Given the description of an element on the screen output the (x, y) to click on. 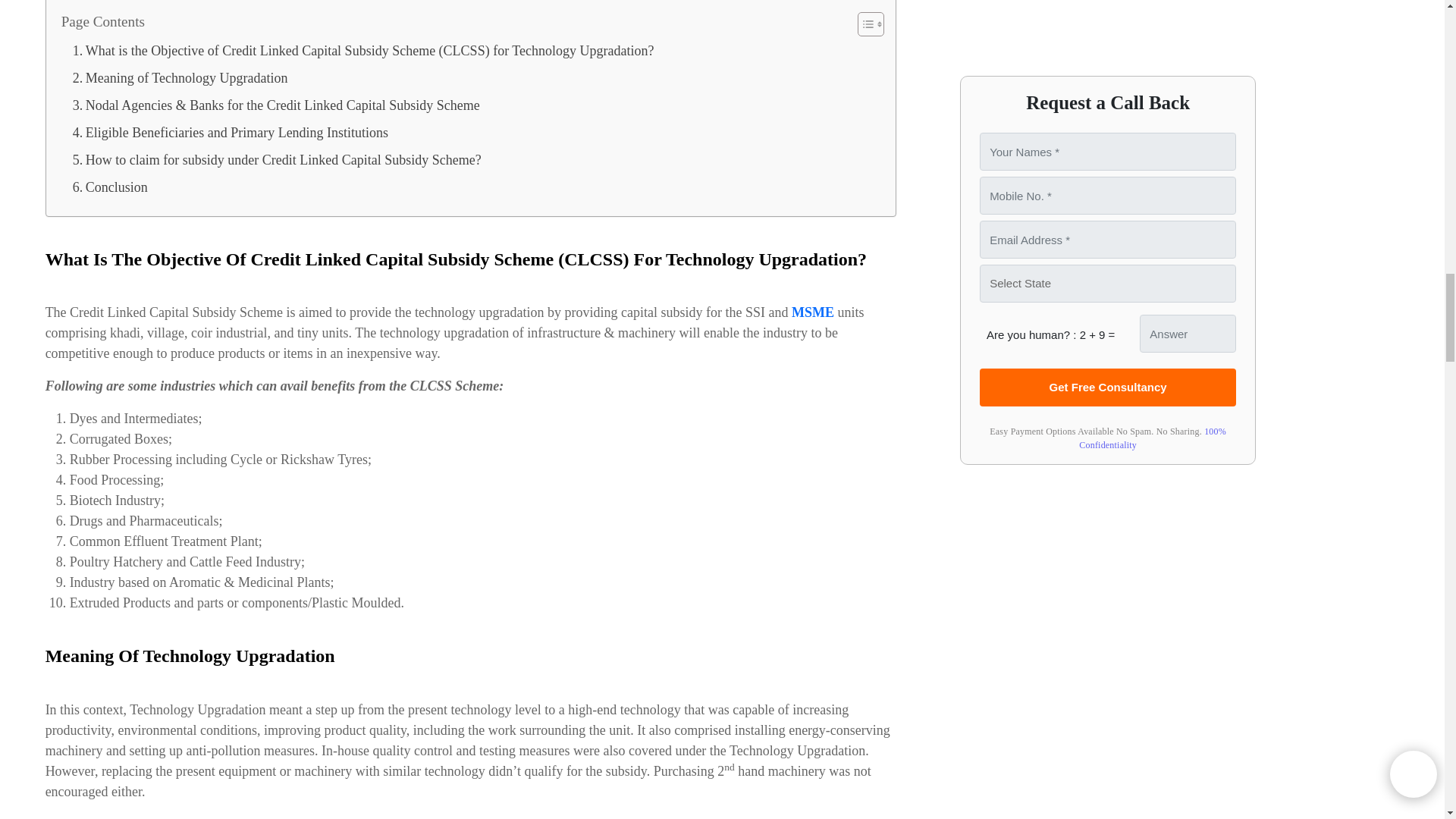
Conclusion (110, 186)
